Given the description of an element on the screen output the (x, y) to click on. 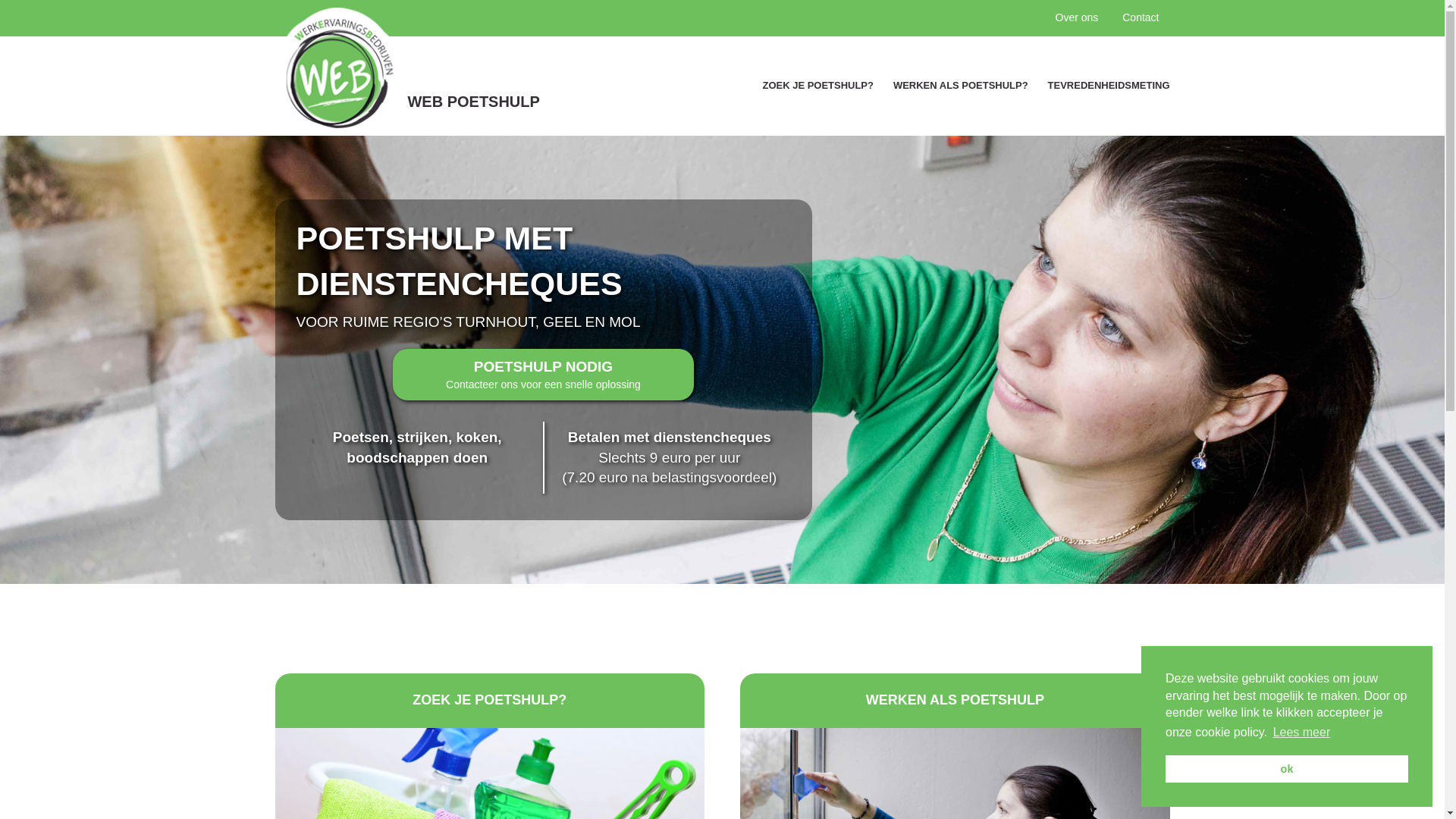
POETSHULP NODIG
Contacteer ons voor een snelle oplossing Element type: text (542, 374)
WEB POETSHULP Element type: text (444, 70)
ok Element type: text (1286, 768)
TEVREDENHEIDSMETING Element type: text (1104, 85)
Contact Element type: text (1140, 18)
Over ons Element type: text (1076, 18)
Lees meer Element type: text (1301, 732)
ZOEK JE POETSHULP? Element type: text (818, 85)
WERKEN ALS POETSHULP? Element type: text (960, 85)
